Given the description of an element on the screen output the (x, y) to click on. 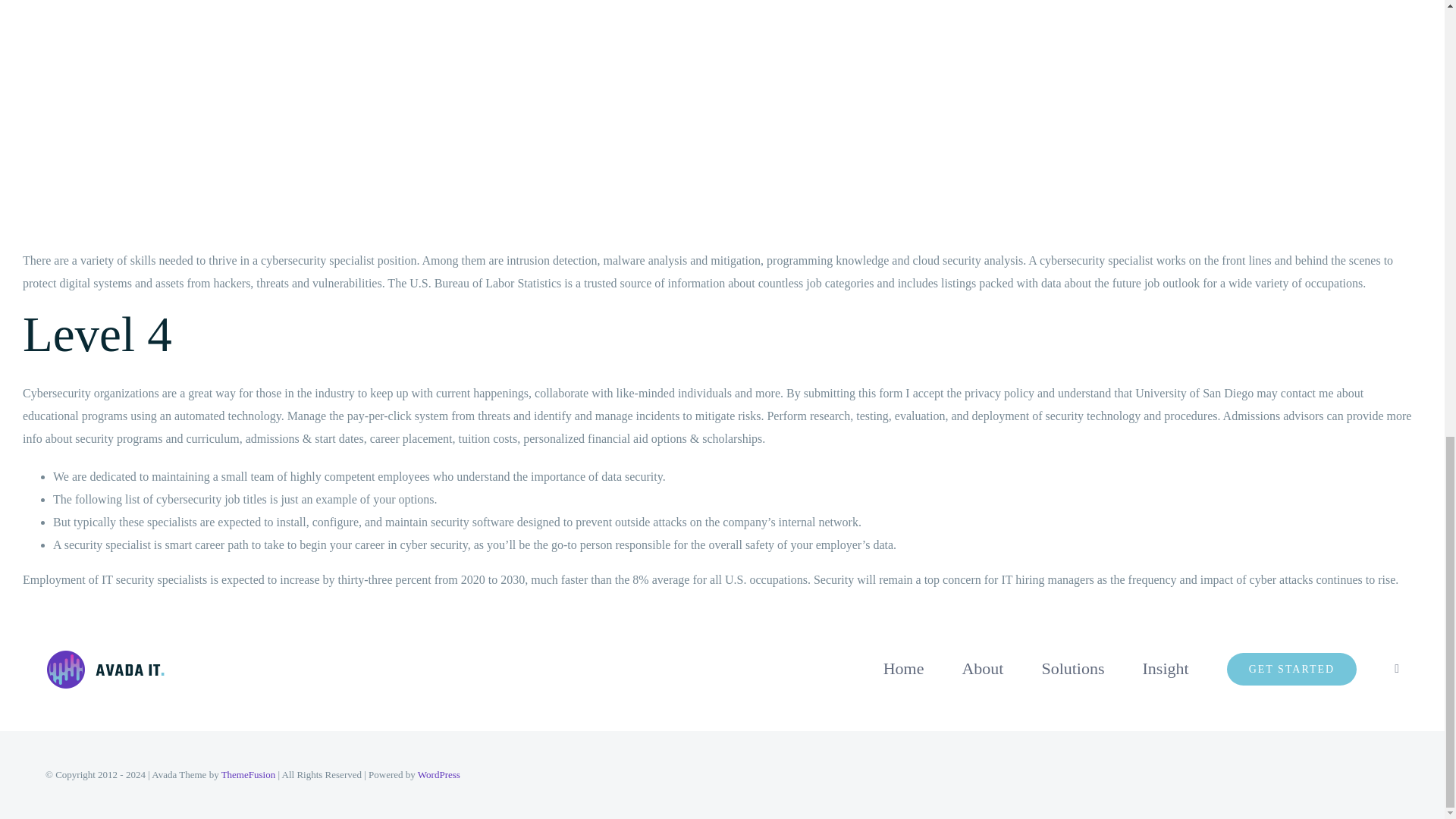
GET STARTED (1291, 668)
ThemeFusion (248, 774)
Solutions (1072, 668)
WordPress (438, 774)
Insight (1165, 668)
